Given the description of an element on the screen output the (x, y) to click on. 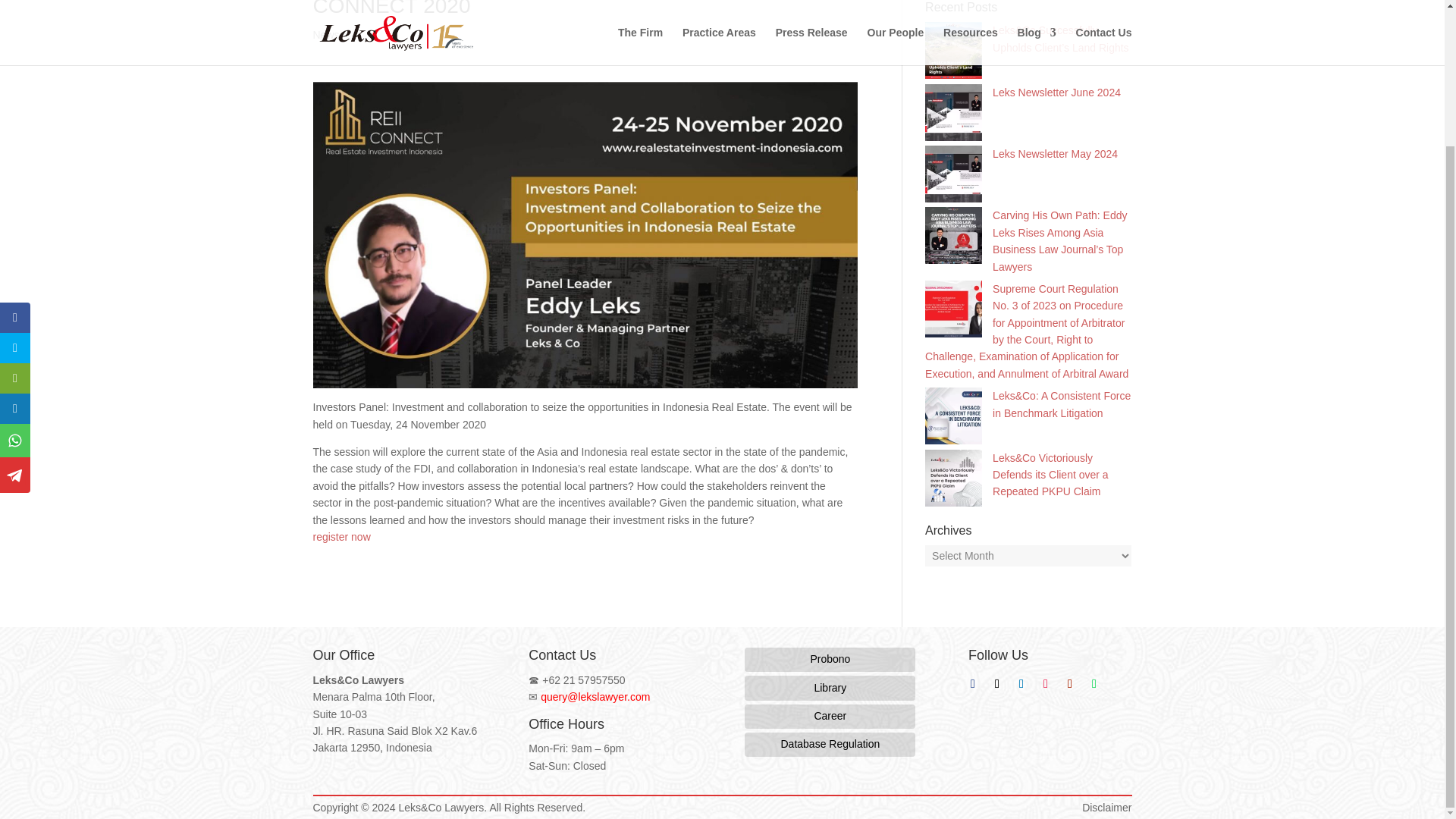
Follow on Facebook (972, 683)
Follow on Spotify (1093, 683)
Follow on Youtube (1069, 683)
register now (341, 536)
Follow on X (997, 683)
Follow on LinkedIn (1021, 683)
News (326, 34)
Leks Newsletter June 2024 (1056, 92)
Leks Newsletter May 2024 (1055, 153)
Follow on Instagram (1045, 683)
